Given the description of an element on the screen output the (x, y) to click on. 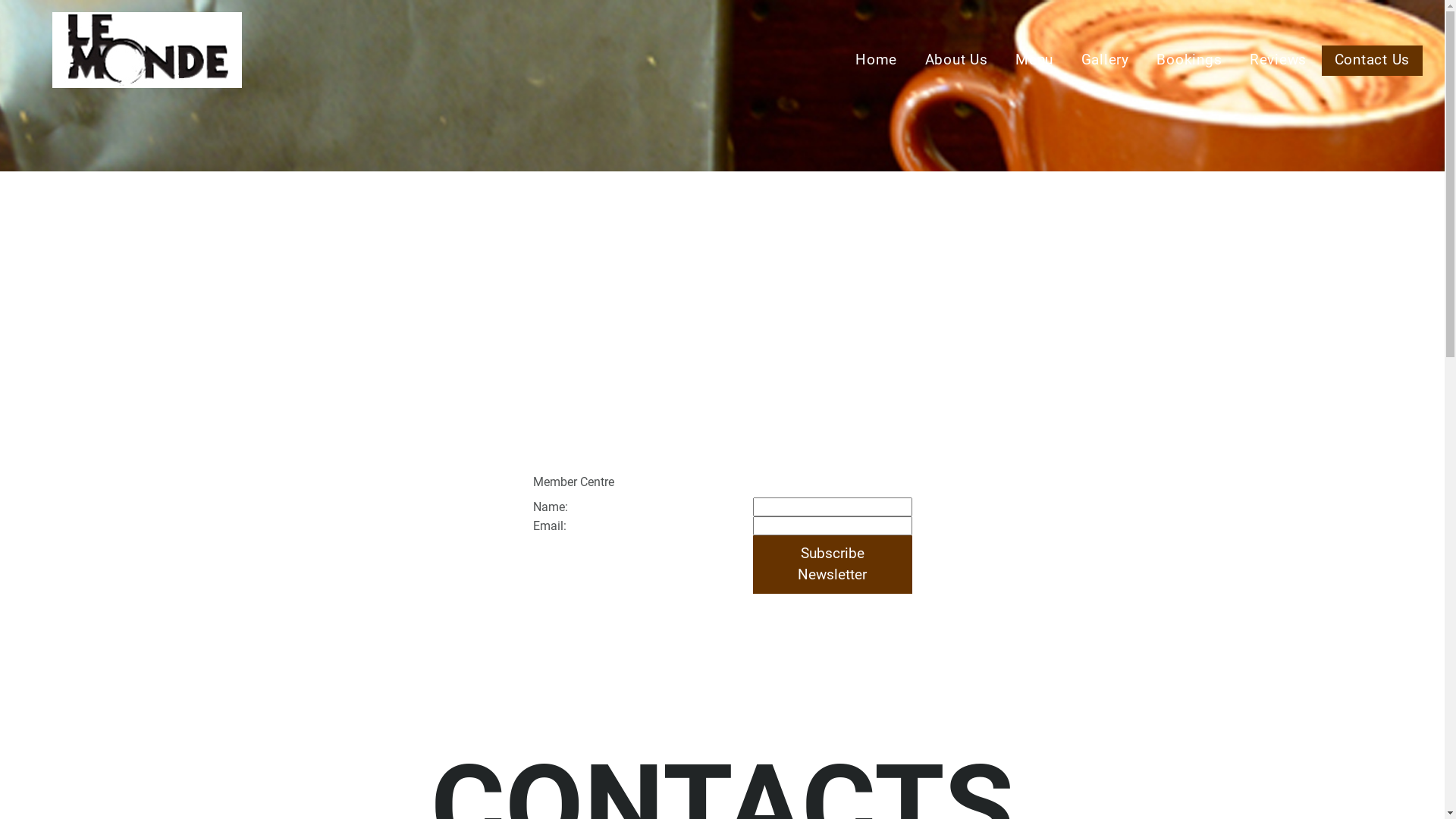
Reviews Element type: text (1277, 60)
Subscribe Newsletter Element type: text (831, 564)
Bookings Element type: text (1189, 60)
About Us Element type: text (956, 60)
Home Element type: text (876, 60)
Contact Us Element type: text (1371, 60)
Menu Element type: text (1034, 60)
Gallery Element type: text (1105, 60)
